Given the description of an element on the screen output the (x, y) to click on. 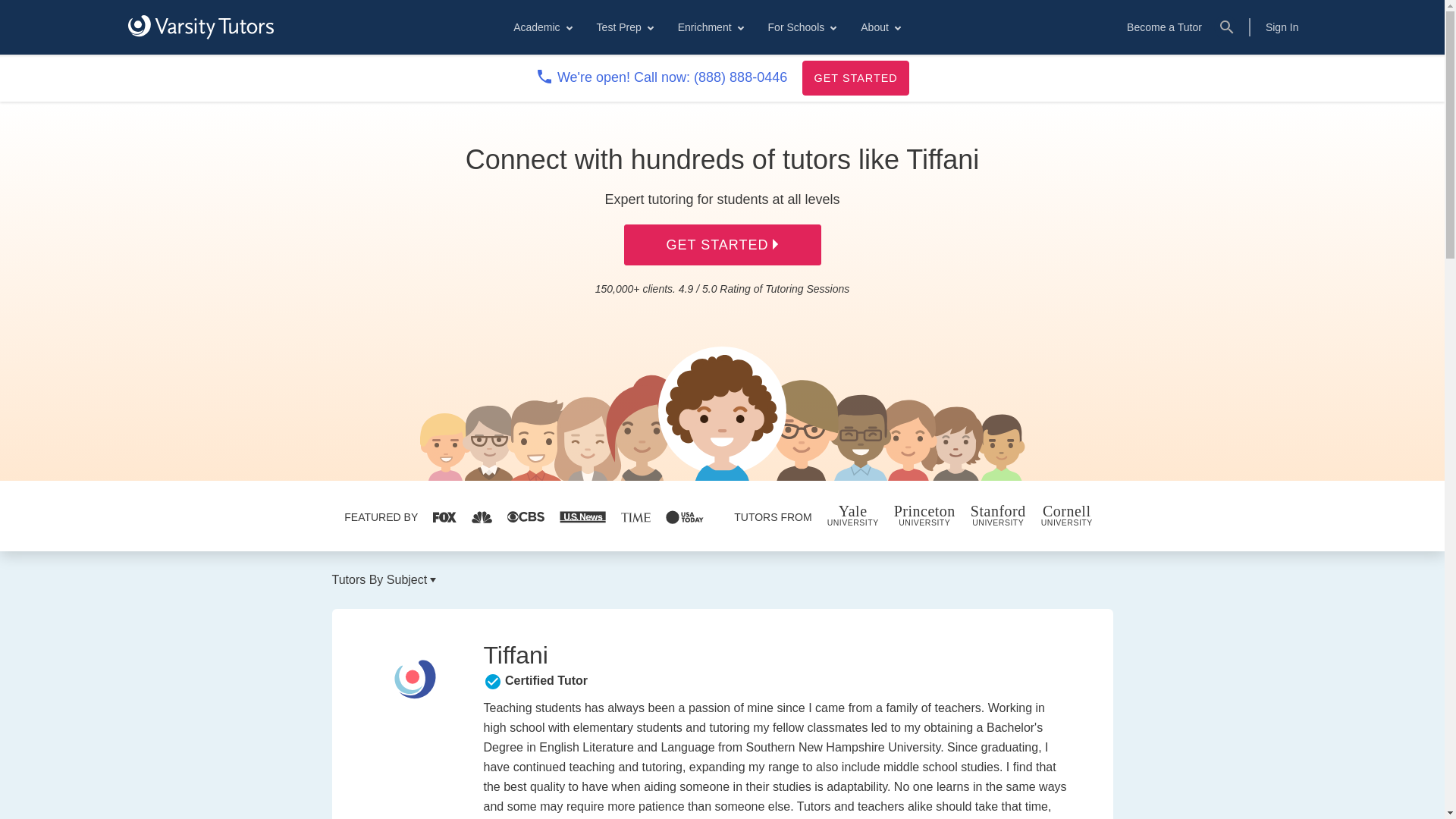
Varsity Tutors (200, 26)
Varsity Tutors (200, 27)
GET STARTED (855, 77)
Academic (541, 27)
